Given the description of an element on the screen output the (x, y) to click on. 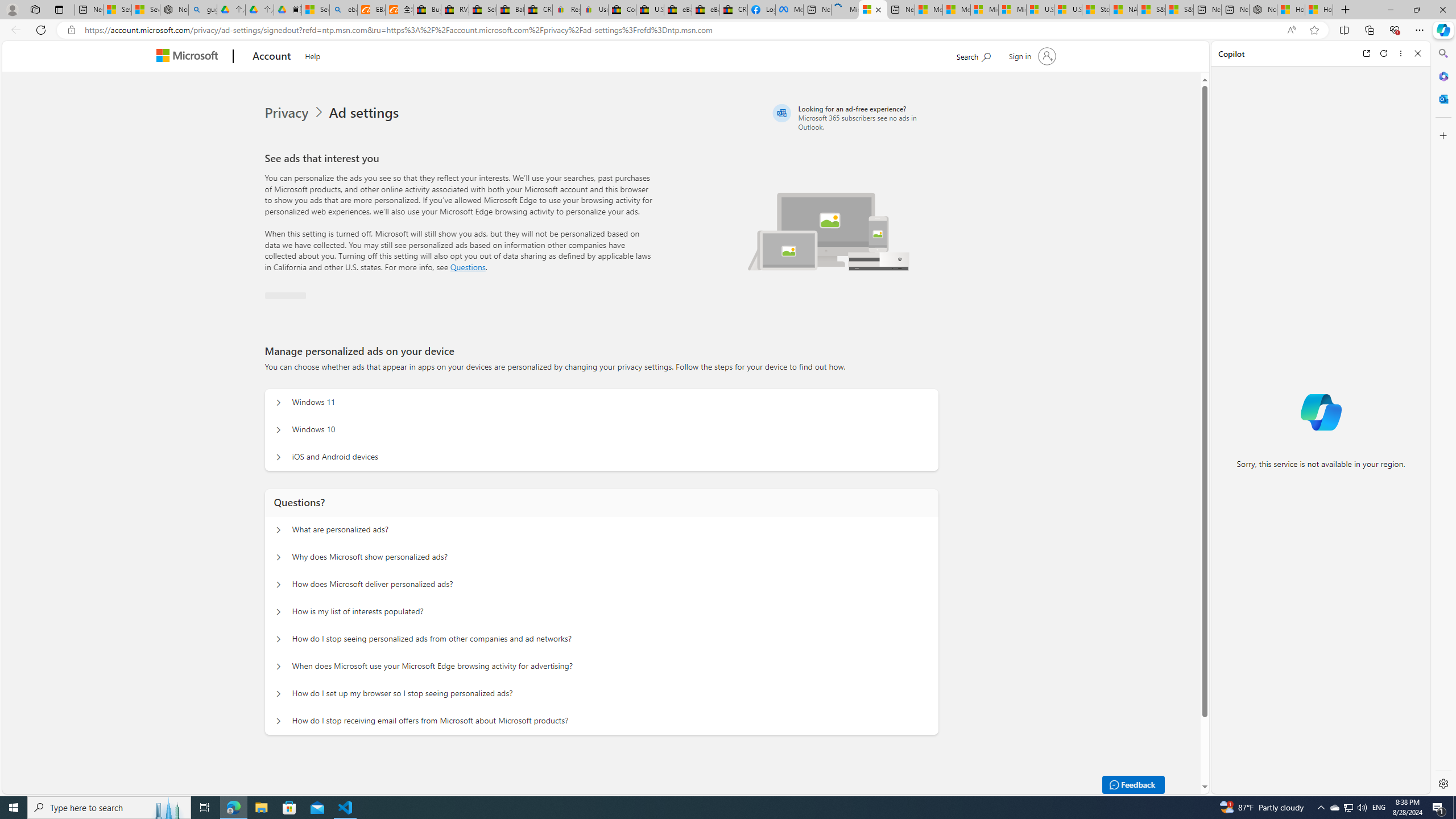
U.S. State Privacy Disclosures - eBay Inc. (649, 9)
Side bar (1443, 418)
User Privacy Notice | eBay (593, 9)
Questions? How is my list of interests populated? (278, 612)
